Given the description of an element on the screen output the (x, y) to click on. 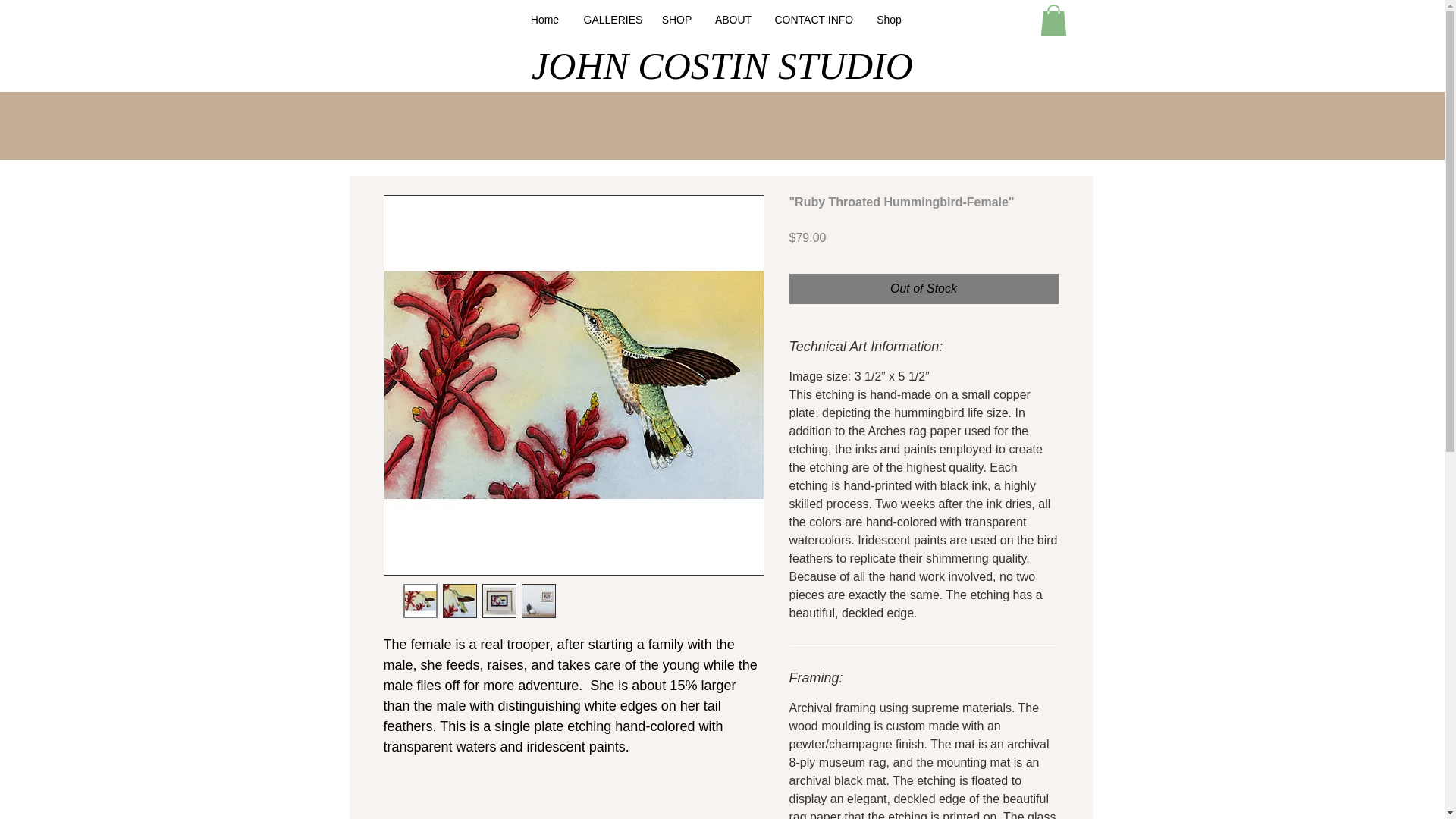
CONTACT INFO (812, 20)
Out of Stock (923, 288)
Home (544, 20)
Shop (889, 20)
ABOUT (732, 20)
